Given the description of an element on the screen output the (x, y) to click on. 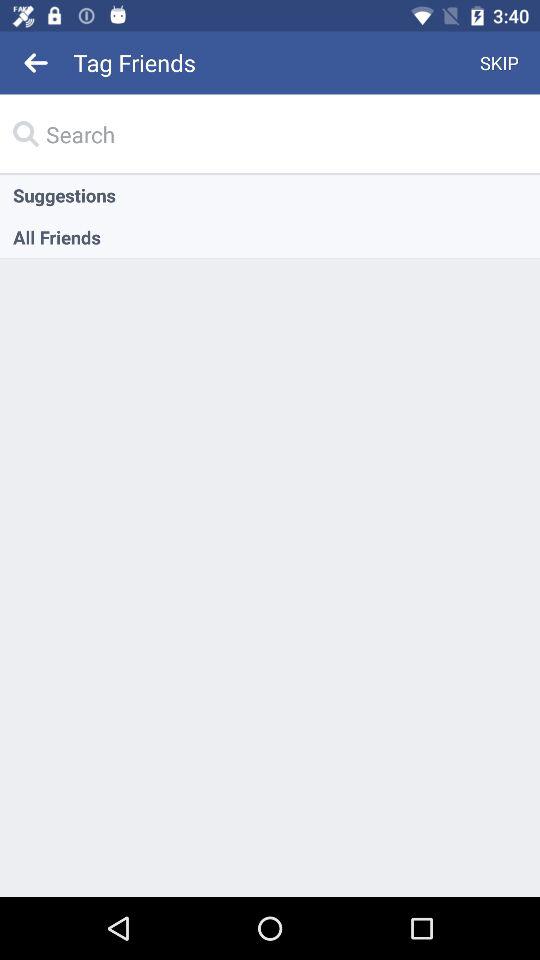
open icon next to the tag friends item (36, 62)
